Given the description of an element on the screen output the (x, y) to click on. 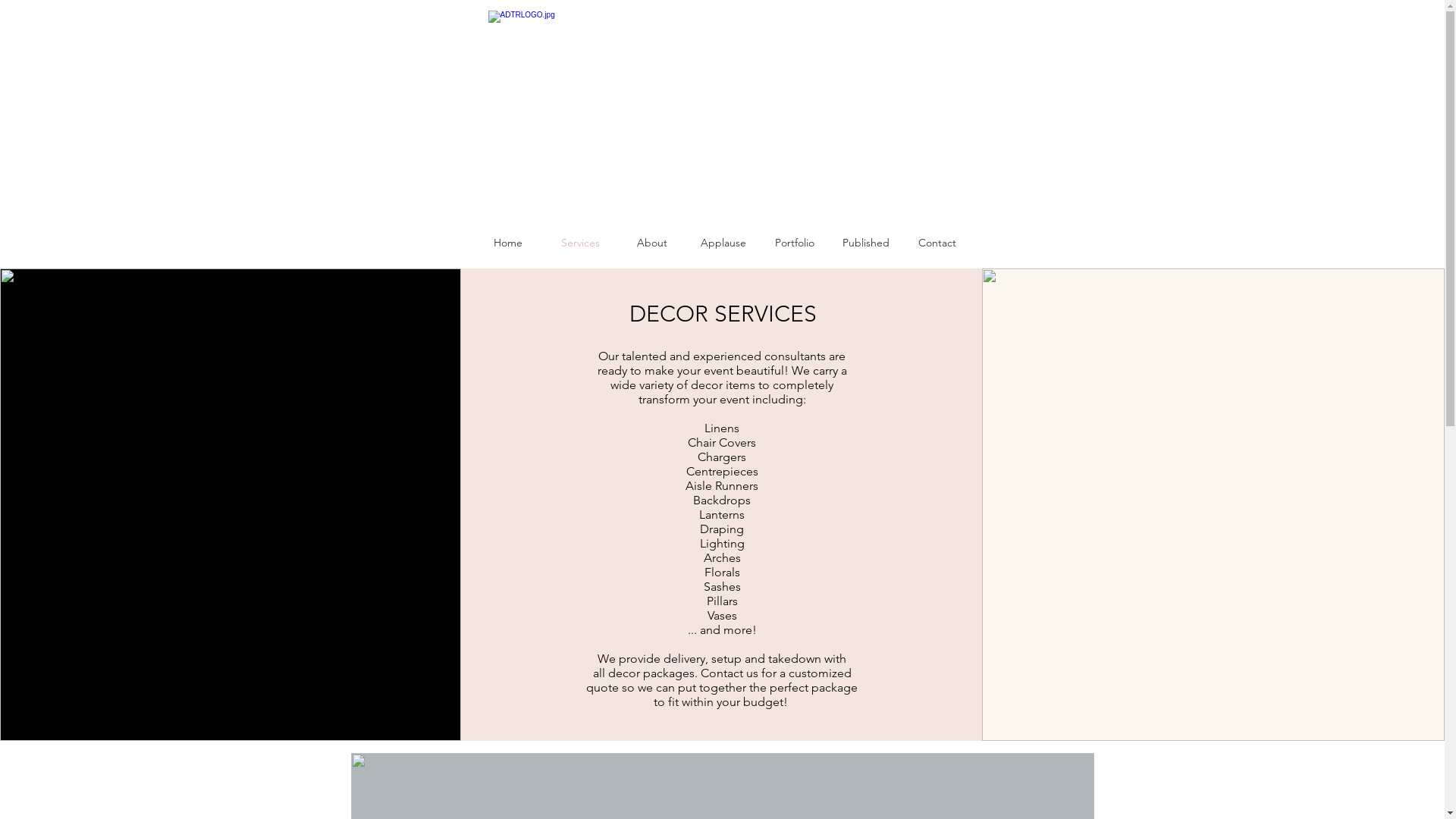
Published Element type: text (864, 242)
Contact Element type: text (936, 242)
Services Element type: text (580, 242)
Home Element type: text (507, 242)
Portfolio Element type: text (793, 242)
Applause Element type: text (722, 242)
About Element type: text (651, 242)
